Given the description of an element on the screen output the (x, y) to click on. 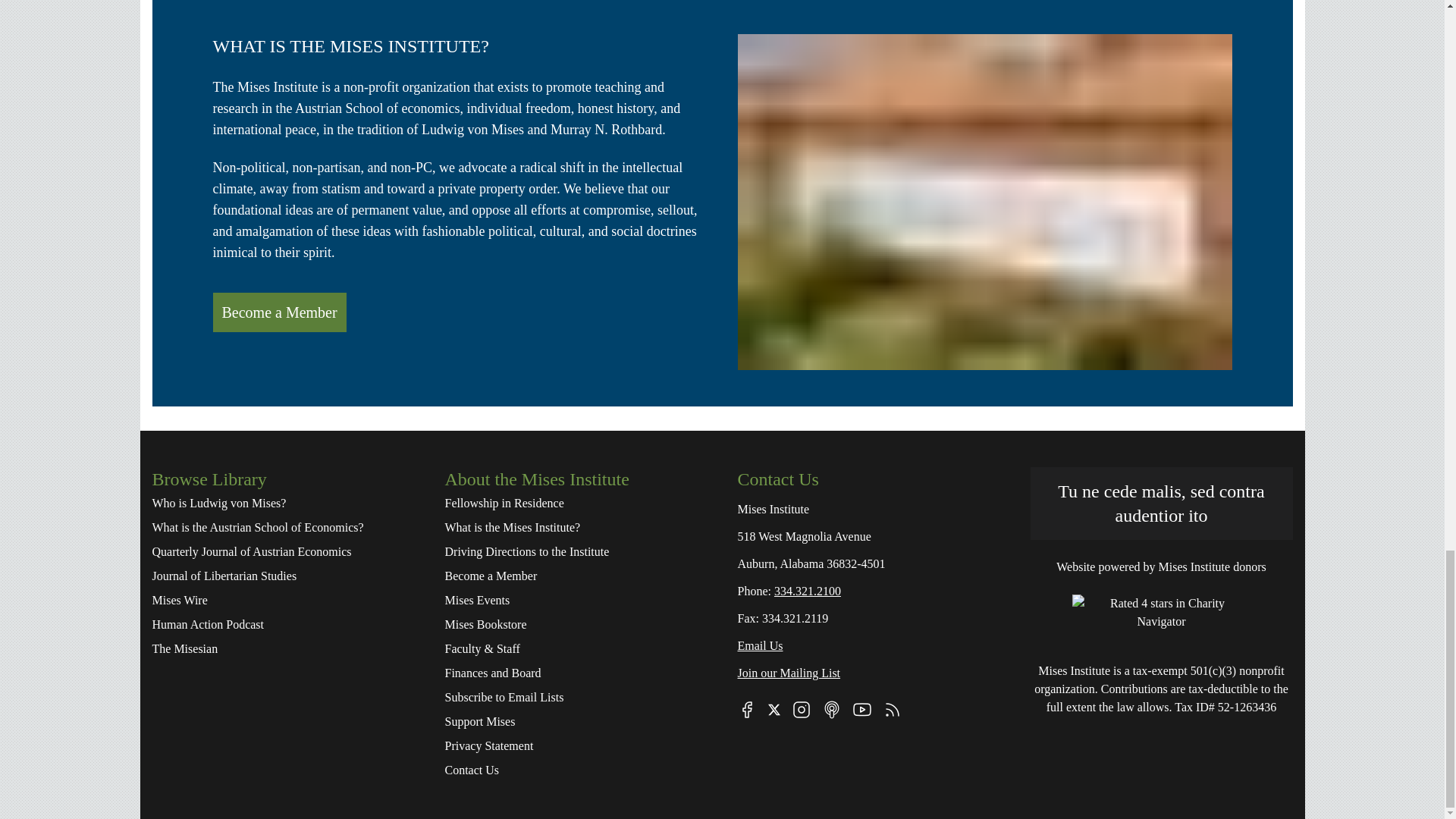
The Misesian (282, 648)
